Given the description of an element on the screen output the (x, y) to click on. 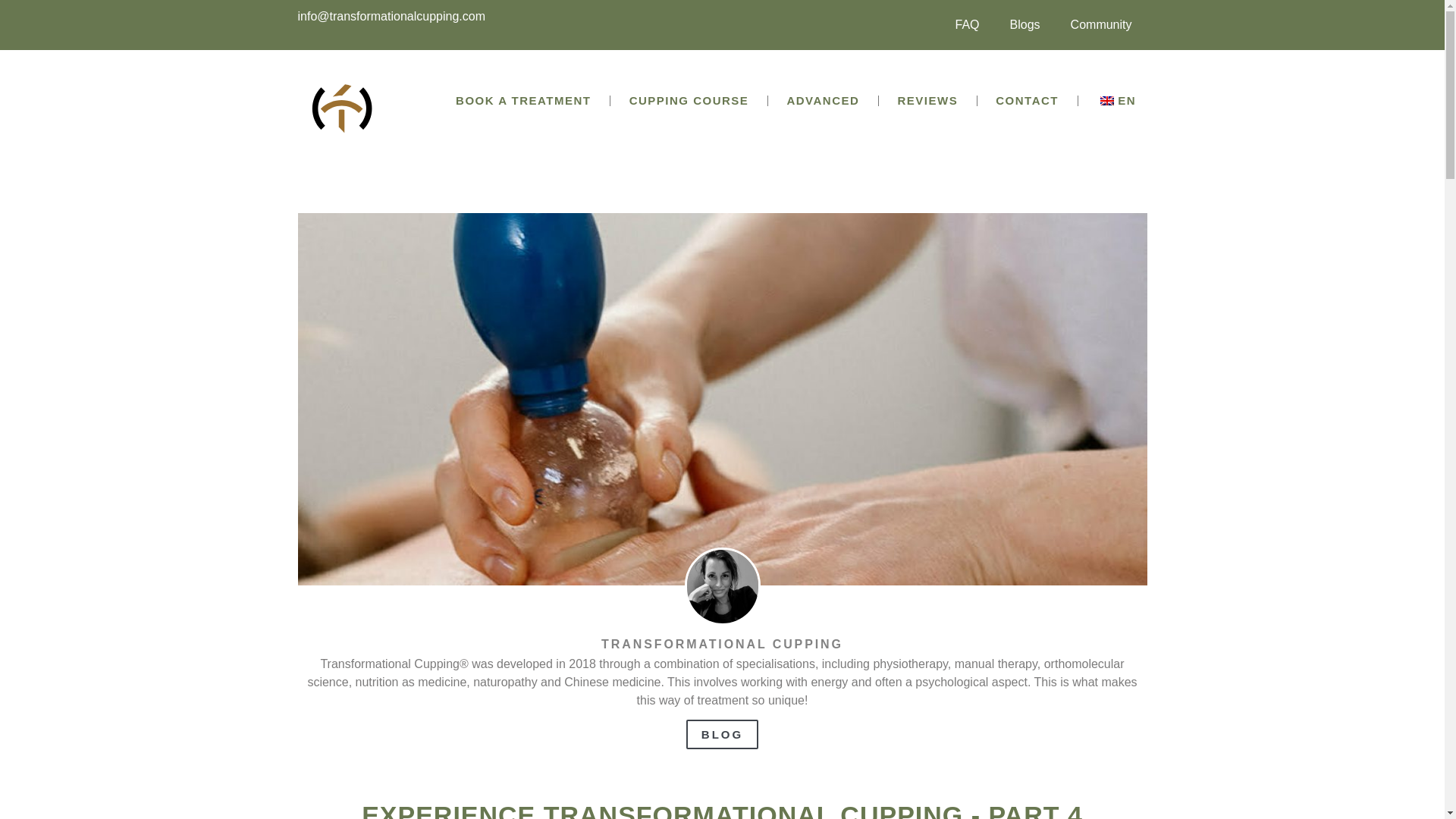
CUPPING COURSE (688, 100)
BOOK A TREATMENT (523, 100)
REVIEWS (927, 100)
EN (1116, 100)
English (1106, 100)
ADVANCED (823, 100)
FAQ (967, 24)
Blogs (1024, 24)
Community (1101, 24)
CONTACT (1027, 100)
